Given the description of an element on the screen output the (x, y) to click on. 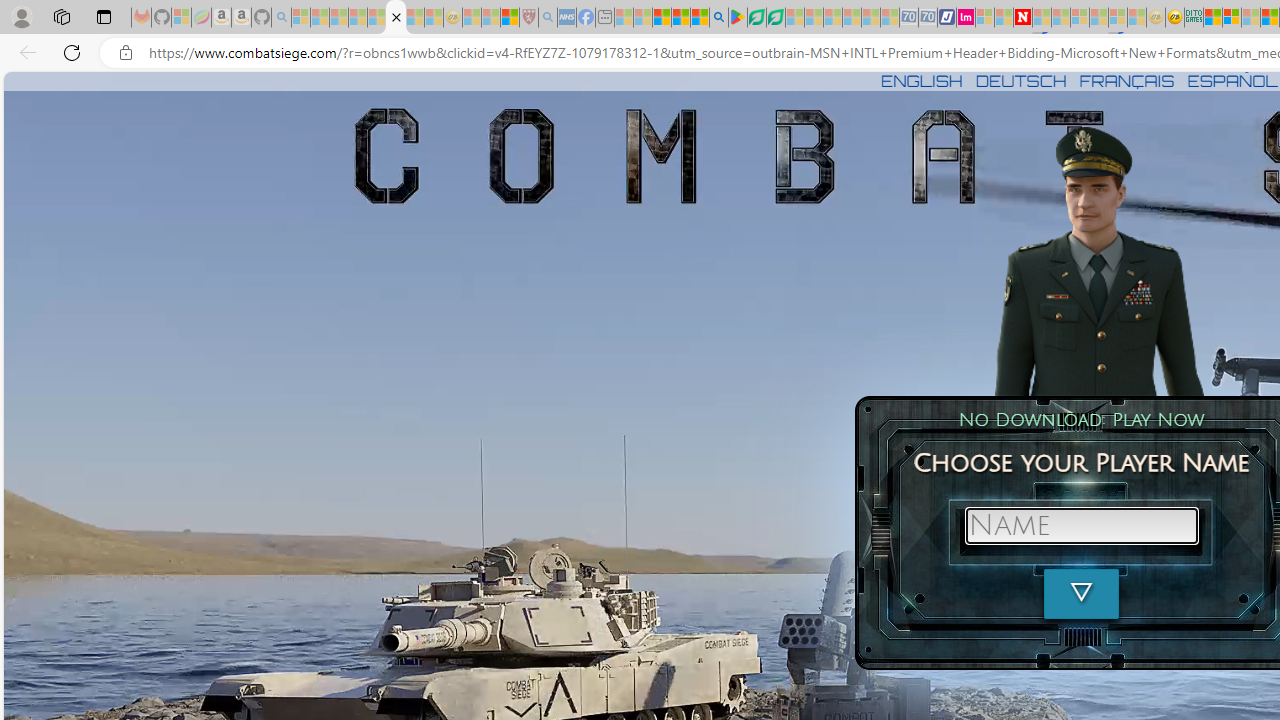
Robert H. Shmerling, MD - Harvard Health - Sleeping (528, 17)
New Report Confirms 2023 Was Record Hot | Watch - Sleeping (376, 17)
